Given the description of an element on the screen output the (x, y) to click on. 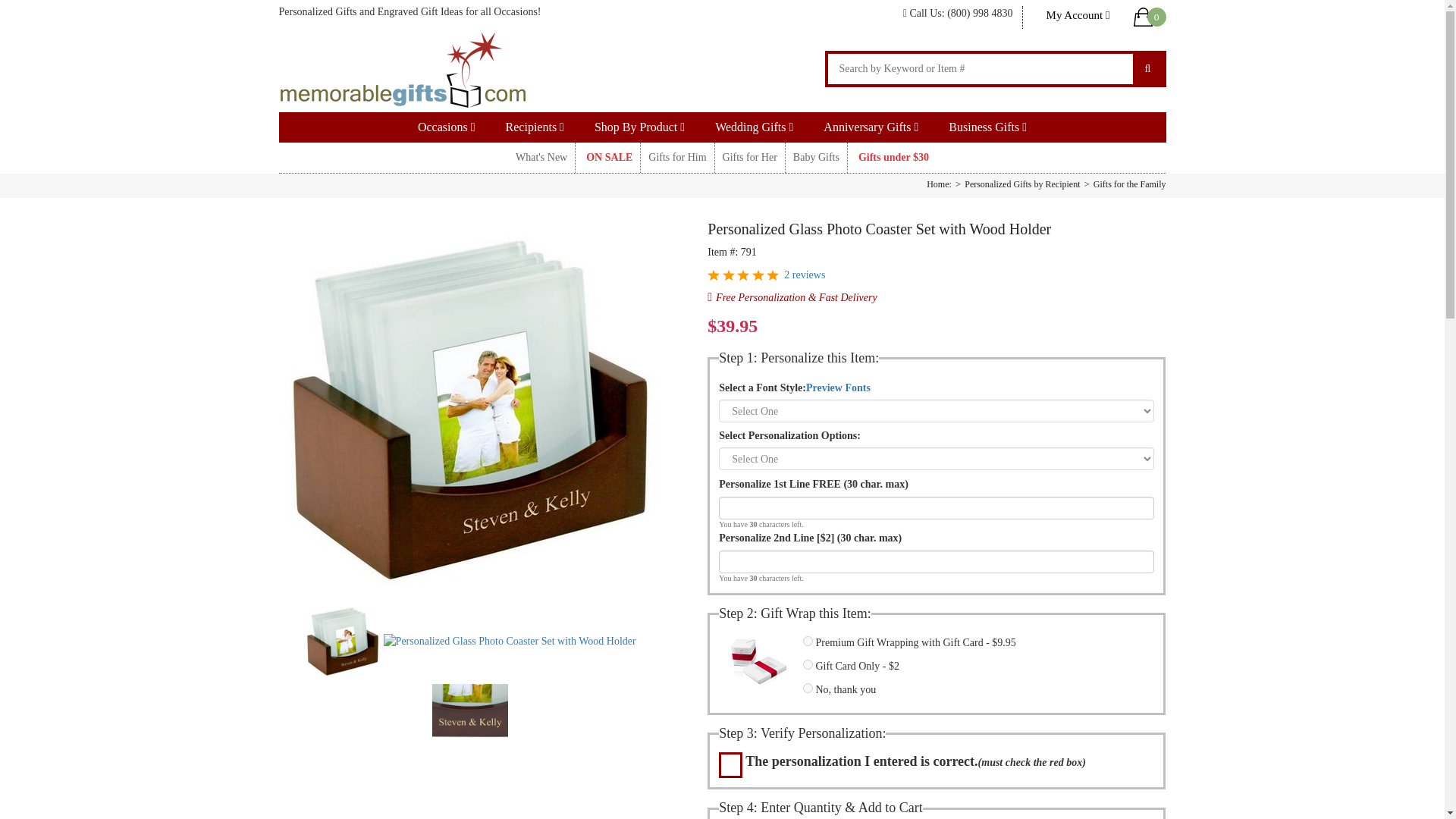
Occasions (446, 127)
Recipients (534, 127)
0 (1149, 16)
ON SALE (607, 157)
Baby Gifts (816, 157)
16 (807, 641)
false (807, 687)
Gifts for Her (749, 157)
New Gifts (541, 157)
Gifts for Him (676, 157)
